Given the description of an element on the screen output the (x, y) to click on. 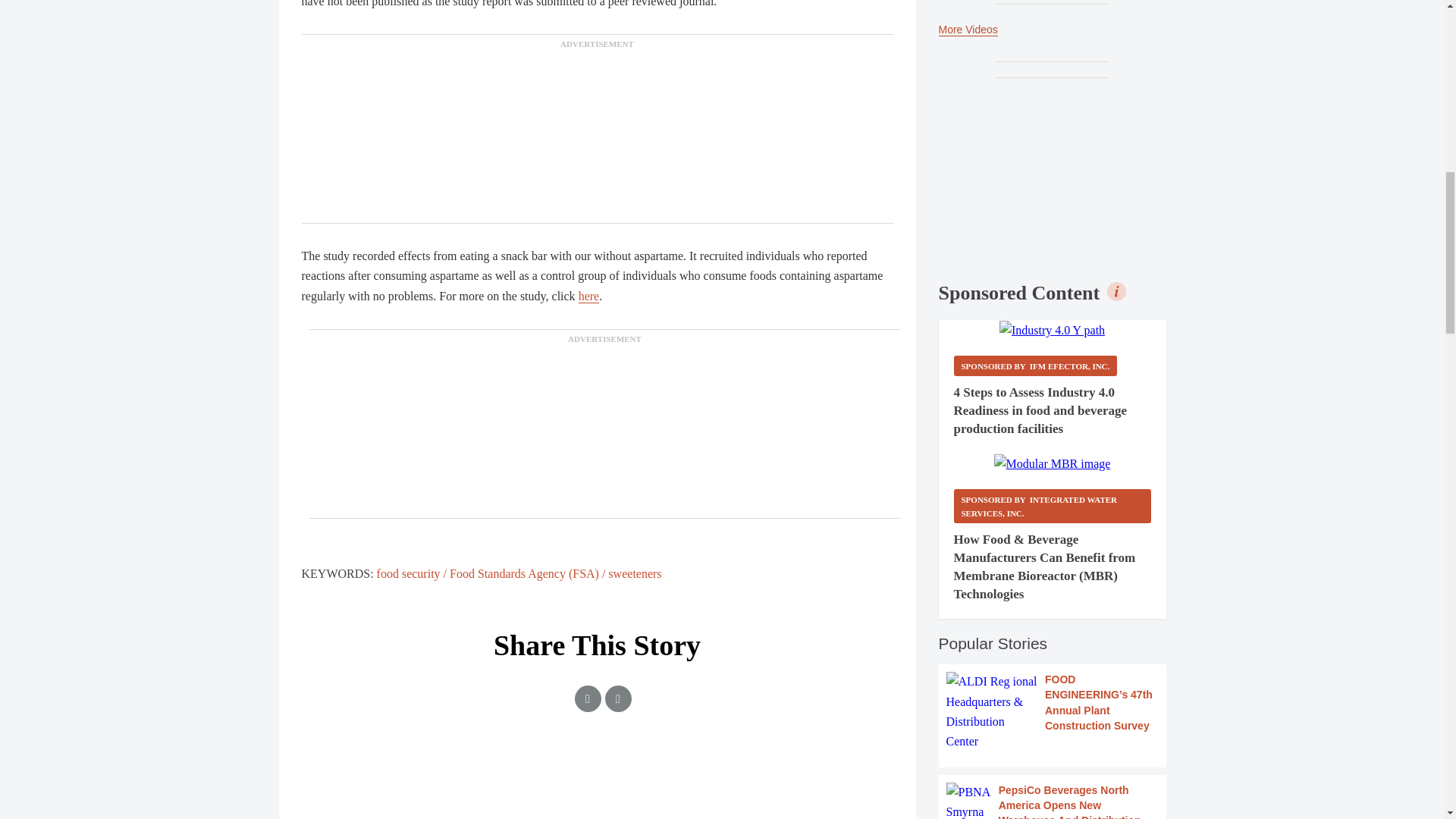
Sponsored by ifm Efector, Inc. (1035, 365)
Sponsored by Integrated Water Services, Inc. (1052, 505)
Interaction questions (597, 789)
Modular MBR (1052, 464)
Industry 4.0 Y path (1051, 330)
